Given the description of an element on the screen output the (x, y) to click on. 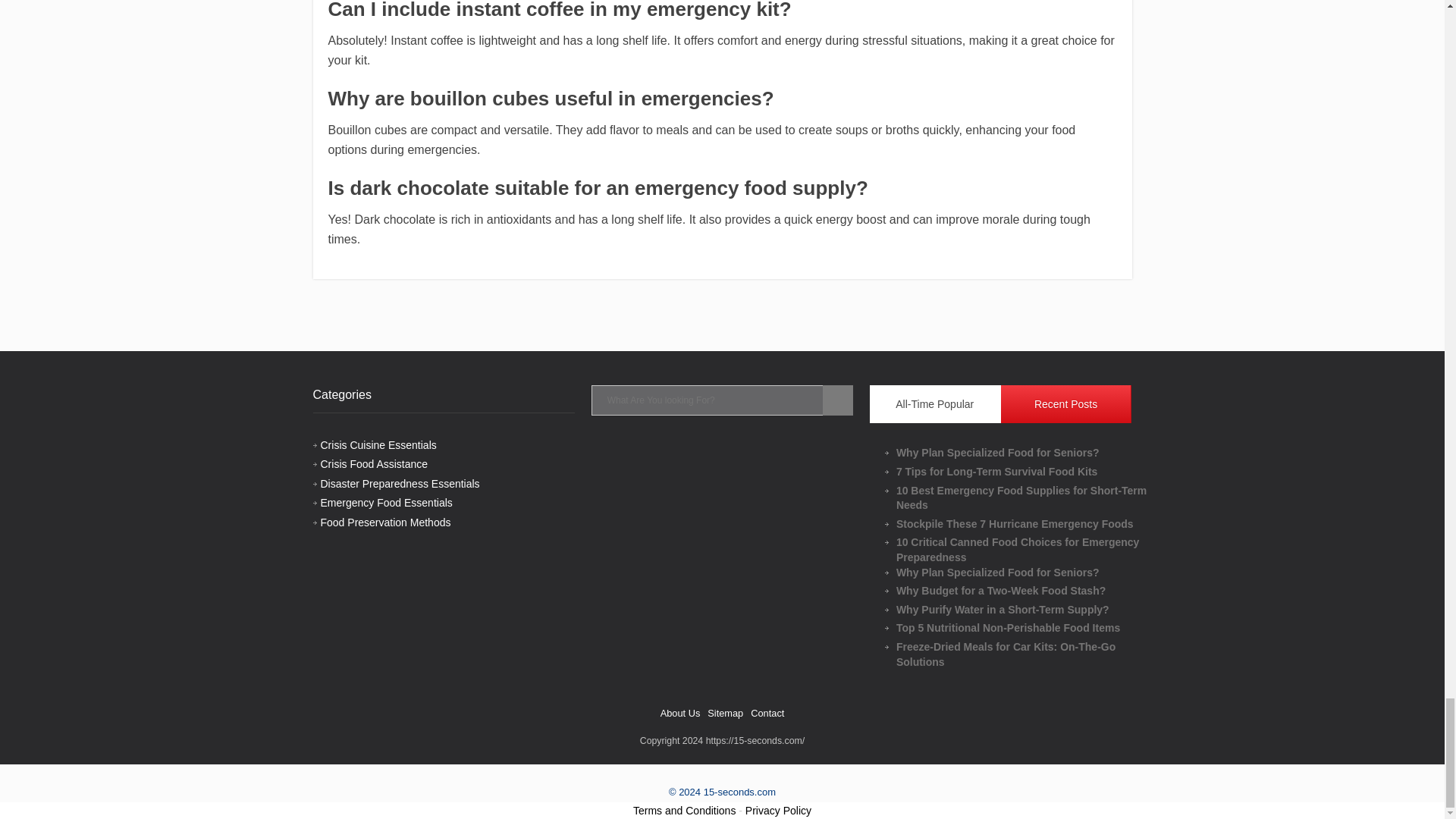
Recent Posts (1066, 403)
All-Time Popular (935, 403)
Crisis Food Assistance (374, 463)
10 Critical Canned Food Choices for Emergency Preparedness (1027, 550)
Food Preservation Methods (384, 522)
Why Plan Specialized Food for Seniors? (1027, 453)
Crisis Cuisine Essentials (377, 444)
Top 5 Nutritional Non-Perishable Food Items (1027, 628)
Disaster Preparedness Essentials (399, 483)
About Us (680, 713)
